Given the description of an element on the screen output the (x, y) to click on. 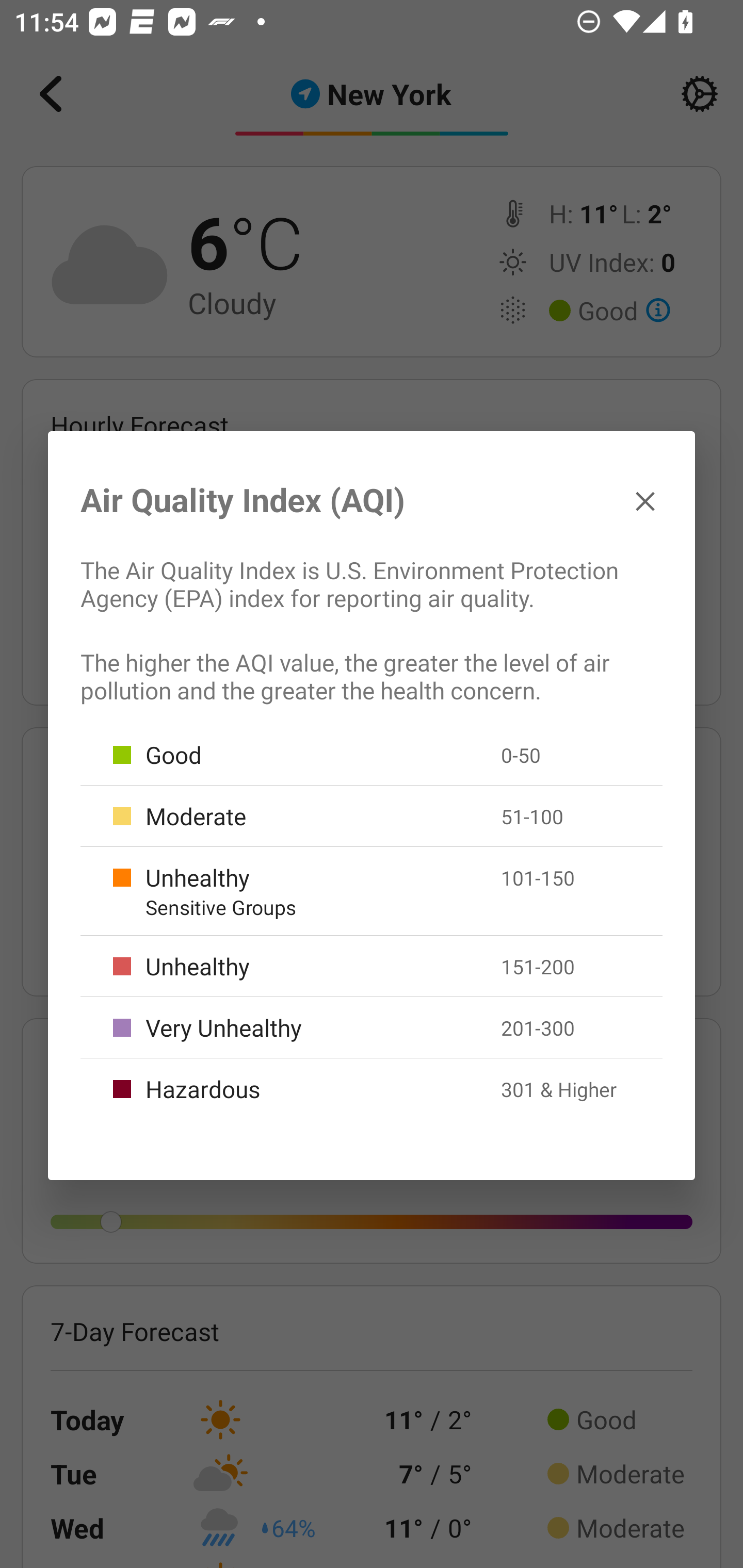
✕ (644, 499)
